Given the description of an element on the screen output the (x, y) to click on. 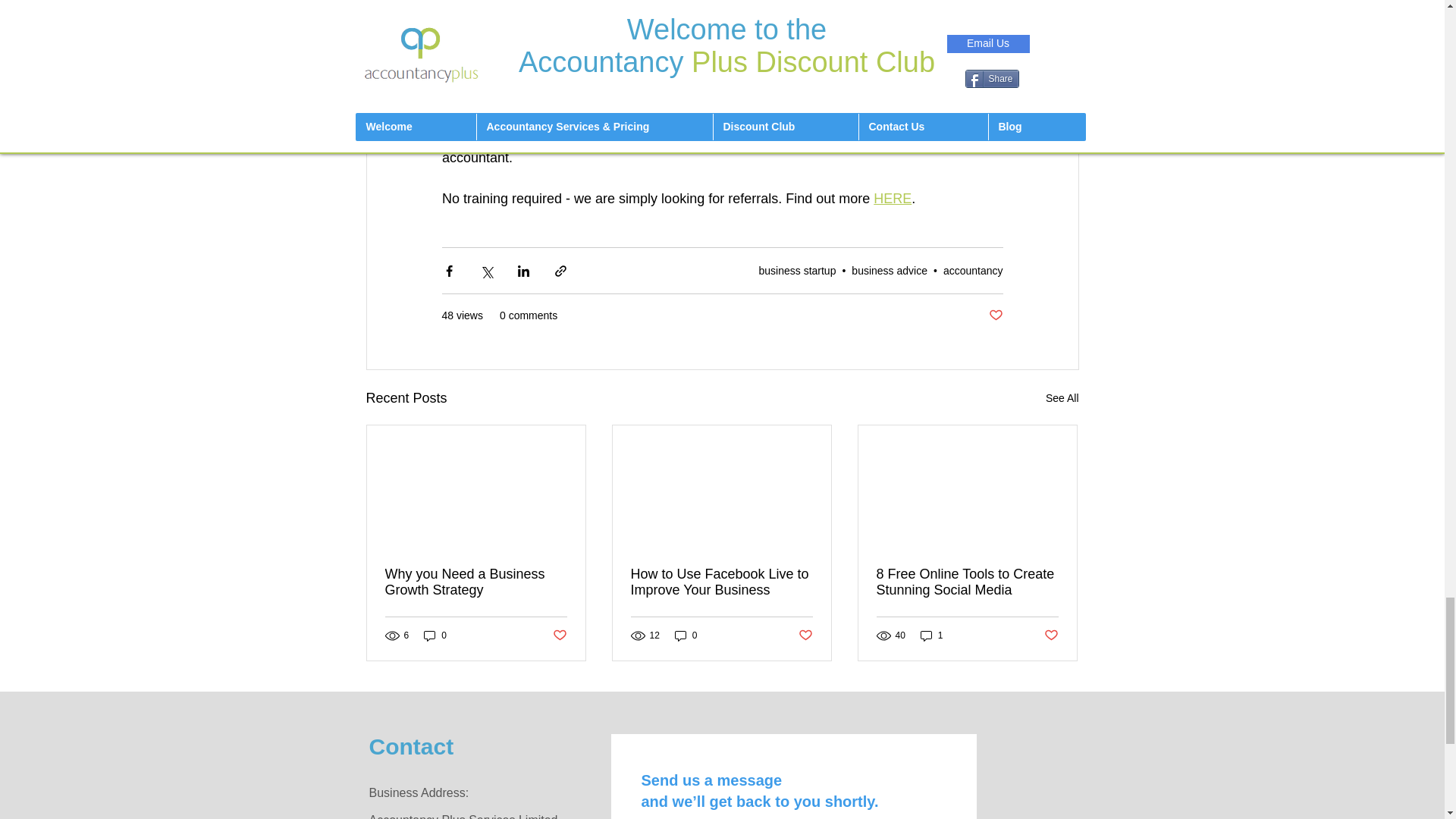
HERE (892, 198)
business startup (796, 269)
business advice (889, 269)
